Given the description of an element on the screen output the (x, y) to click on. 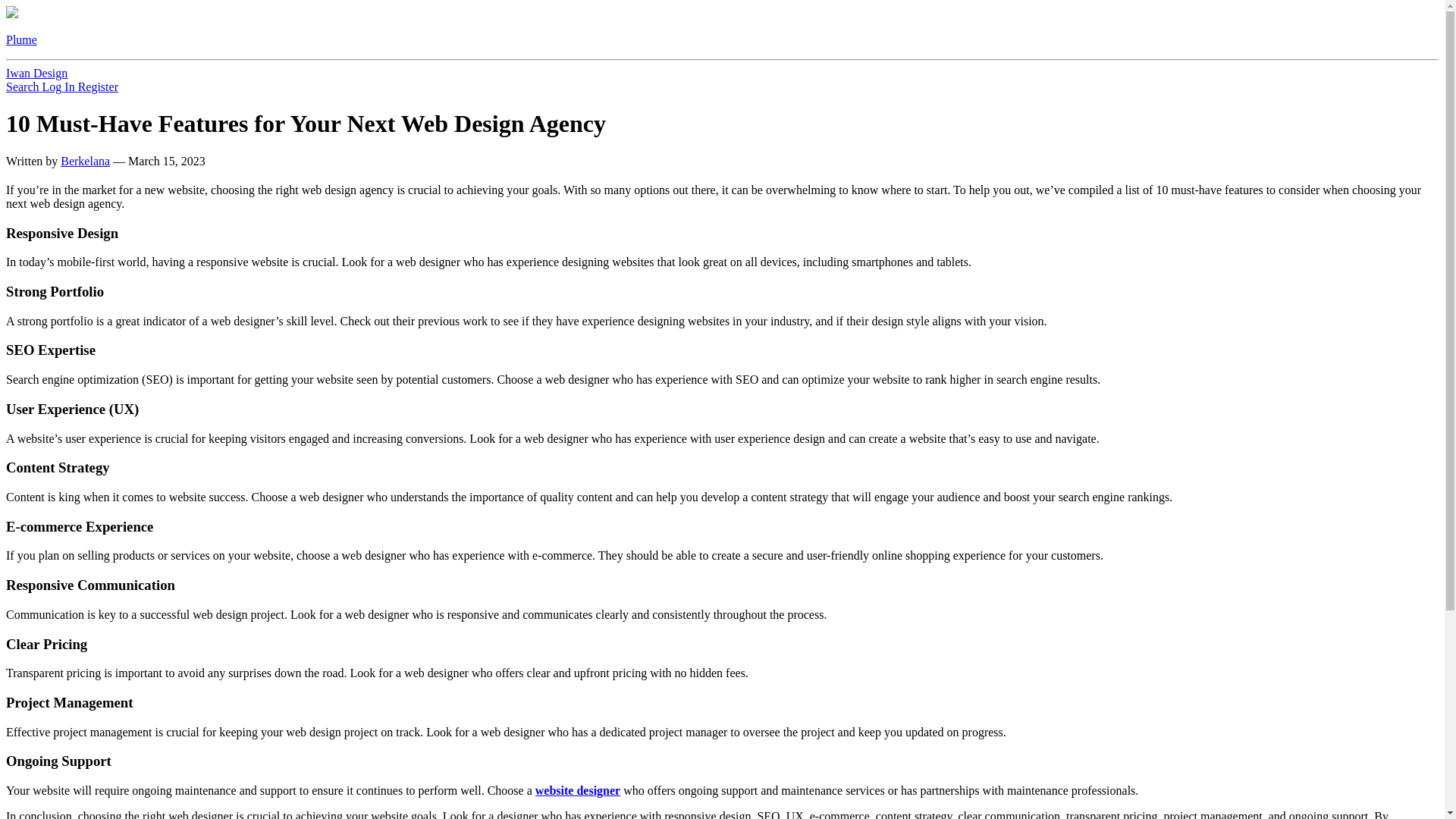
website designer (577, 789)
Search (23, 86)
Register (97, 86)
Berkelana (85, 160)
Log In (60, 86)
Iwan Design (35, 72)
